Given the description of an element on the screen output the (x, y) to click on. 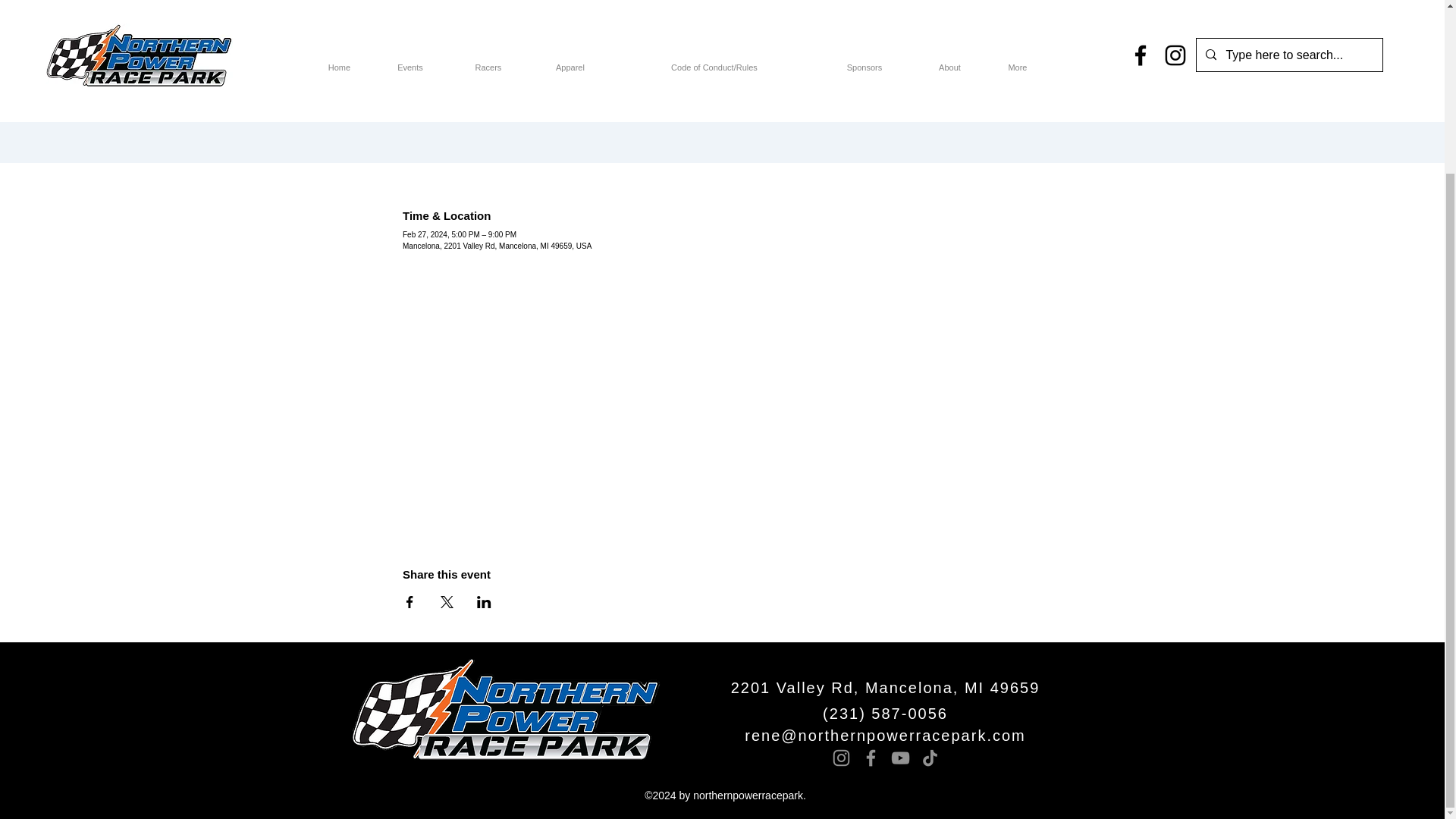
See other events (722, 96)
NPE Race Park Logo.jpg (504, 709)
